Given the description of an element on the screen output the (x, y) to click on. 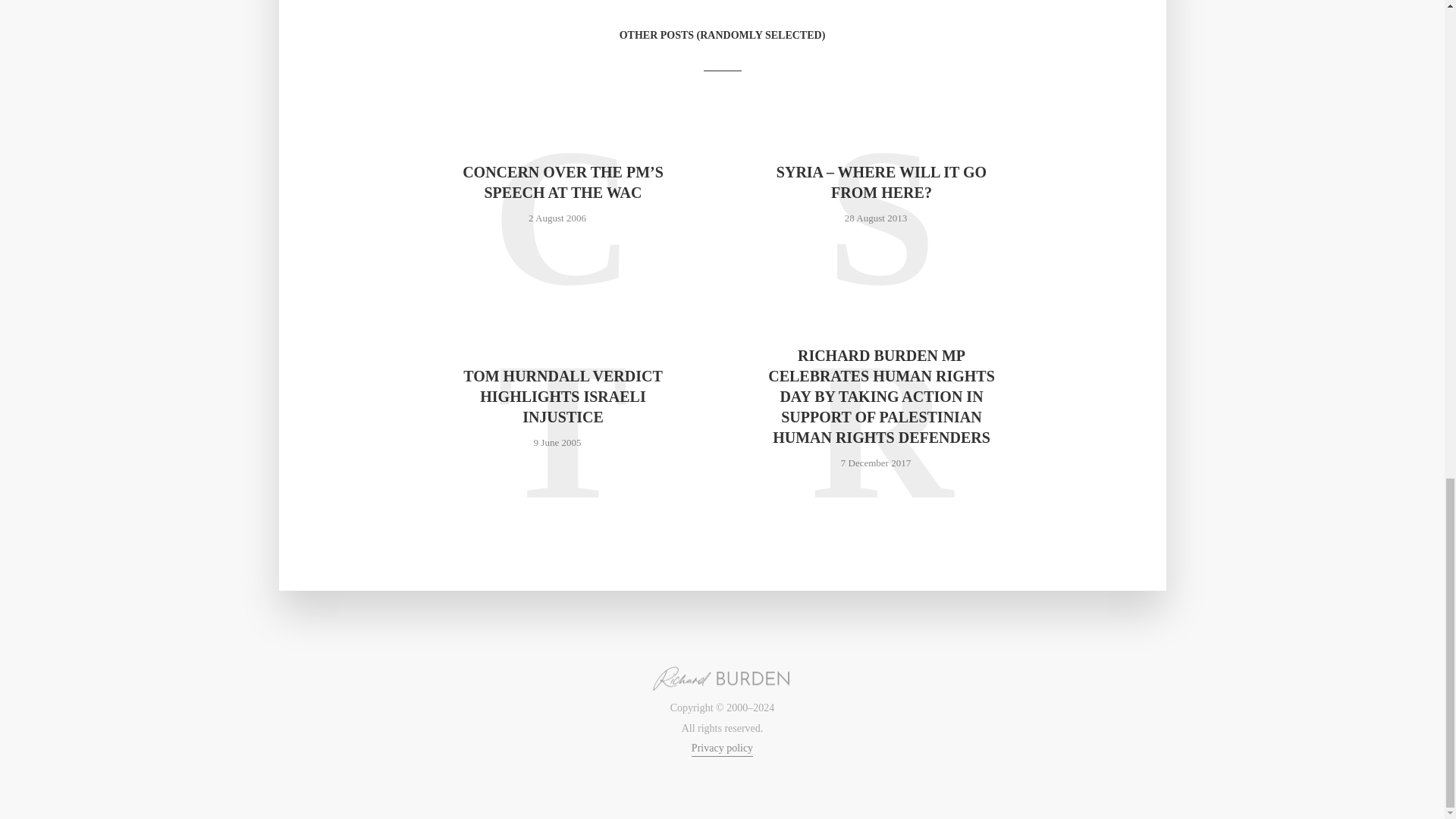
TOM HURNDALL VERDICT HIGHLIGHTS ISRAELI INJUSTICE (562, 396)
Privacy policy (721, 749)
